Given the description of an element on the screen output the (x, y) to click on. 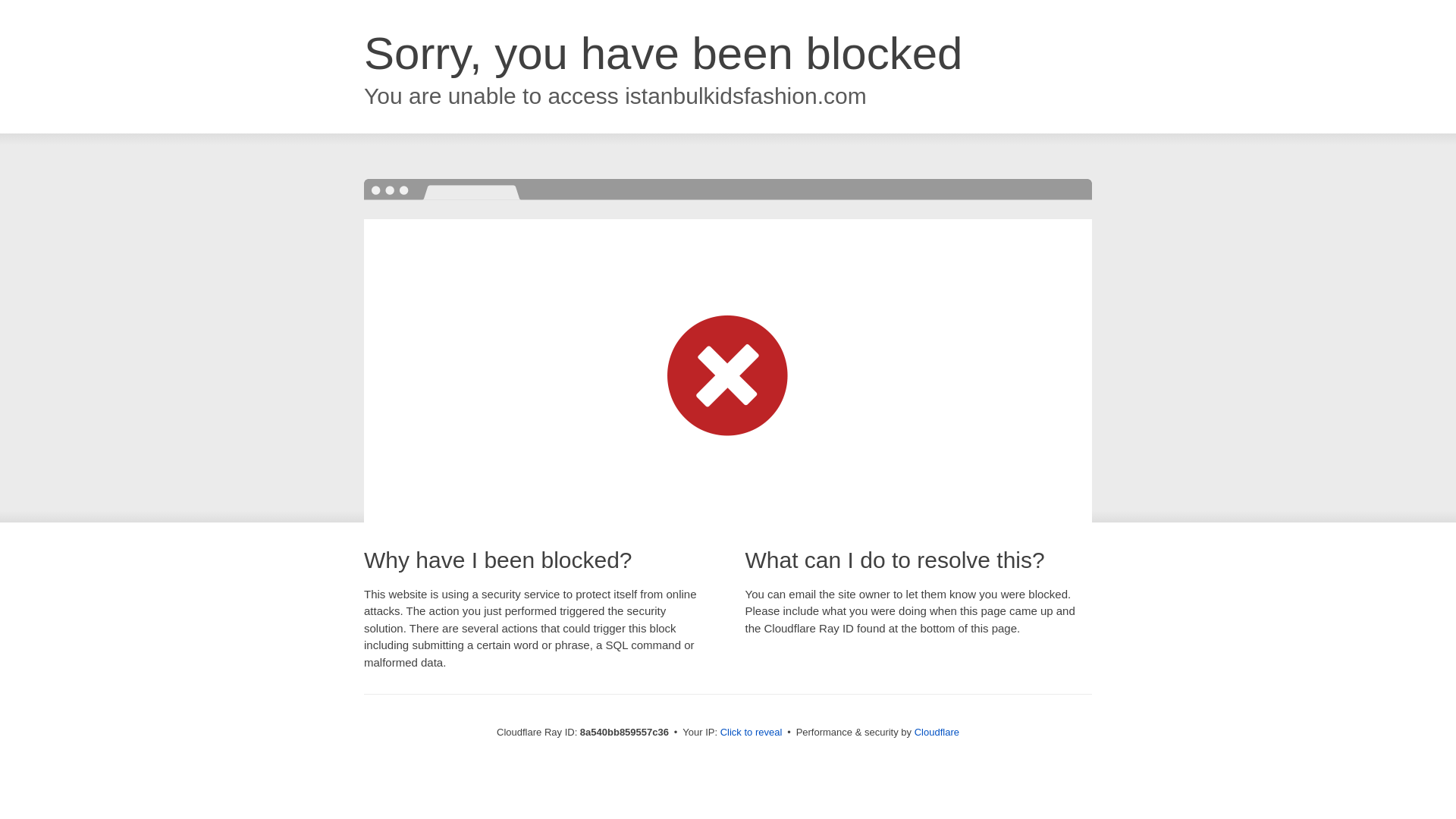
Cloudflare (936, 731)
Click to reveal (751, 732)
